Given the description of an element on the screen output the (x, y) to click on. 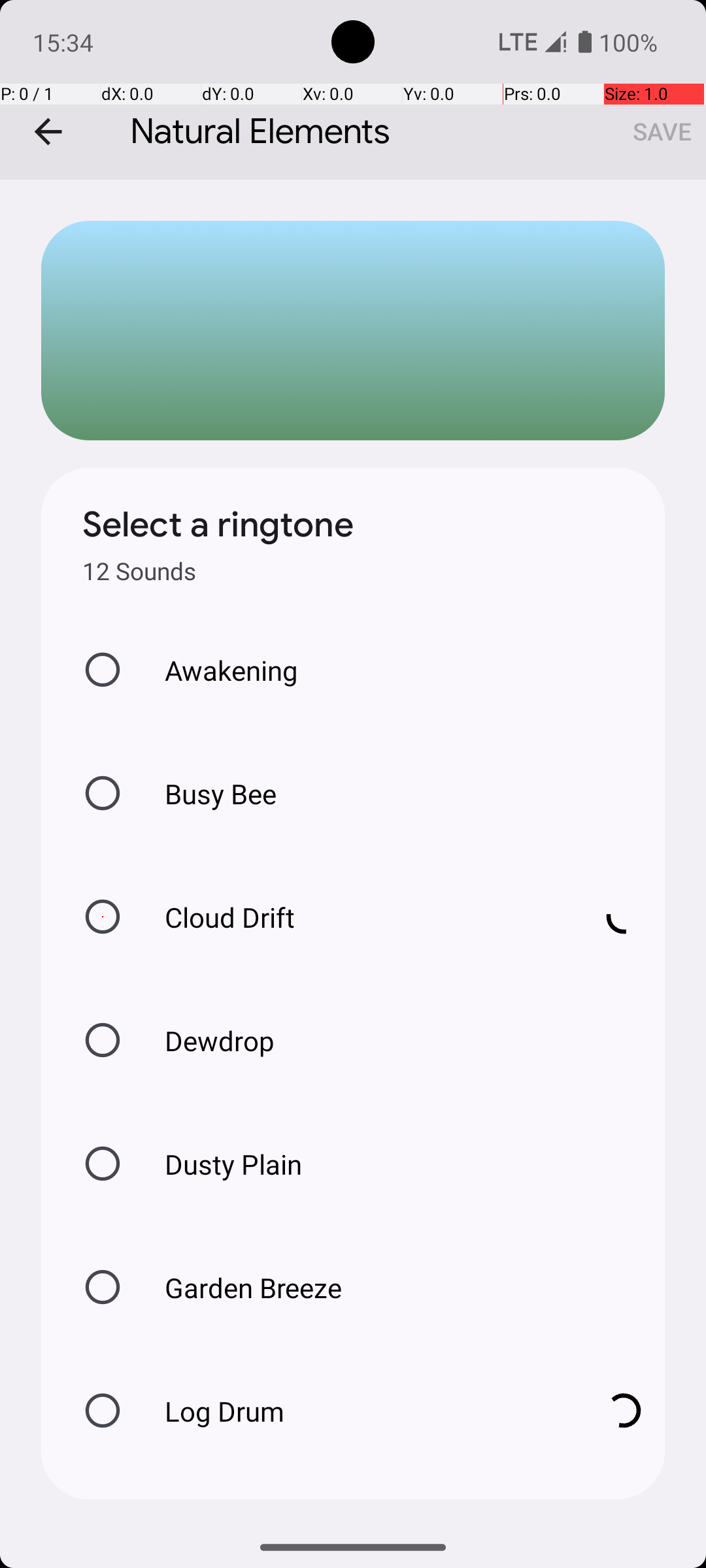
Natural Elements Element type: android.widget.FrameLayout (353, 89)
Select a ringtone Element type: android.widget.TextView (217, 524)
12 Sounds Element type: android.widget.TextView (139, 570)
Awakening Element type: android.widget.TextView (217, 669)
Busy Bee Element type: android.widget.TextView (206, 793)
Cloud Drift Element type: android.widget.TextView (359, 916)
Download in progress Element type: android.widget.ImageView (623, 916)
Dewdrop Element type: android.widget.TextView (205, 1040)
Dusty Plain Element type: android.widget.TextView (219, 1163)
Garden Breeze Element type: android.widget.TextView (239, 1287)
Log Drum Element type: android.widget.TextView (359, 1410)
